Given the description of an element on the screen output the (x, y) to click on. 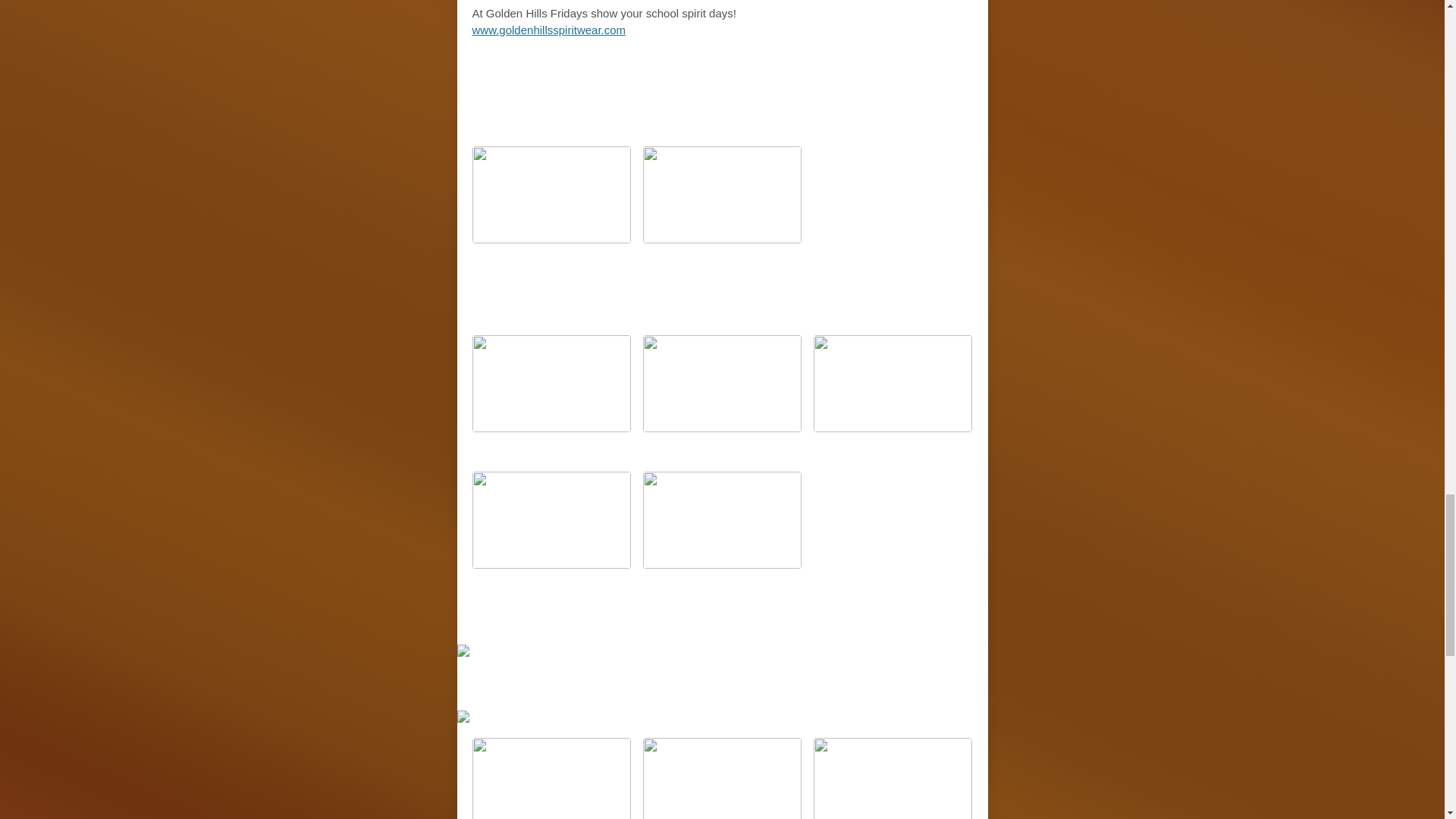
Volleyball (721, 684)
Music (648, 105)
winners (847, 294)
EAGLE (648, 619)
Winners (790, 619)
www.goldenhillsspiritwear.com (548, 29)
PBIS (580, 294)
Winners (789, 105)
cream (674, 294)
Award (717, 619)
Award (716, 105)
sandwich (760, 294)
Ice (620, 294)
